Given the description of an element on the screen output the (x, y) to click on. 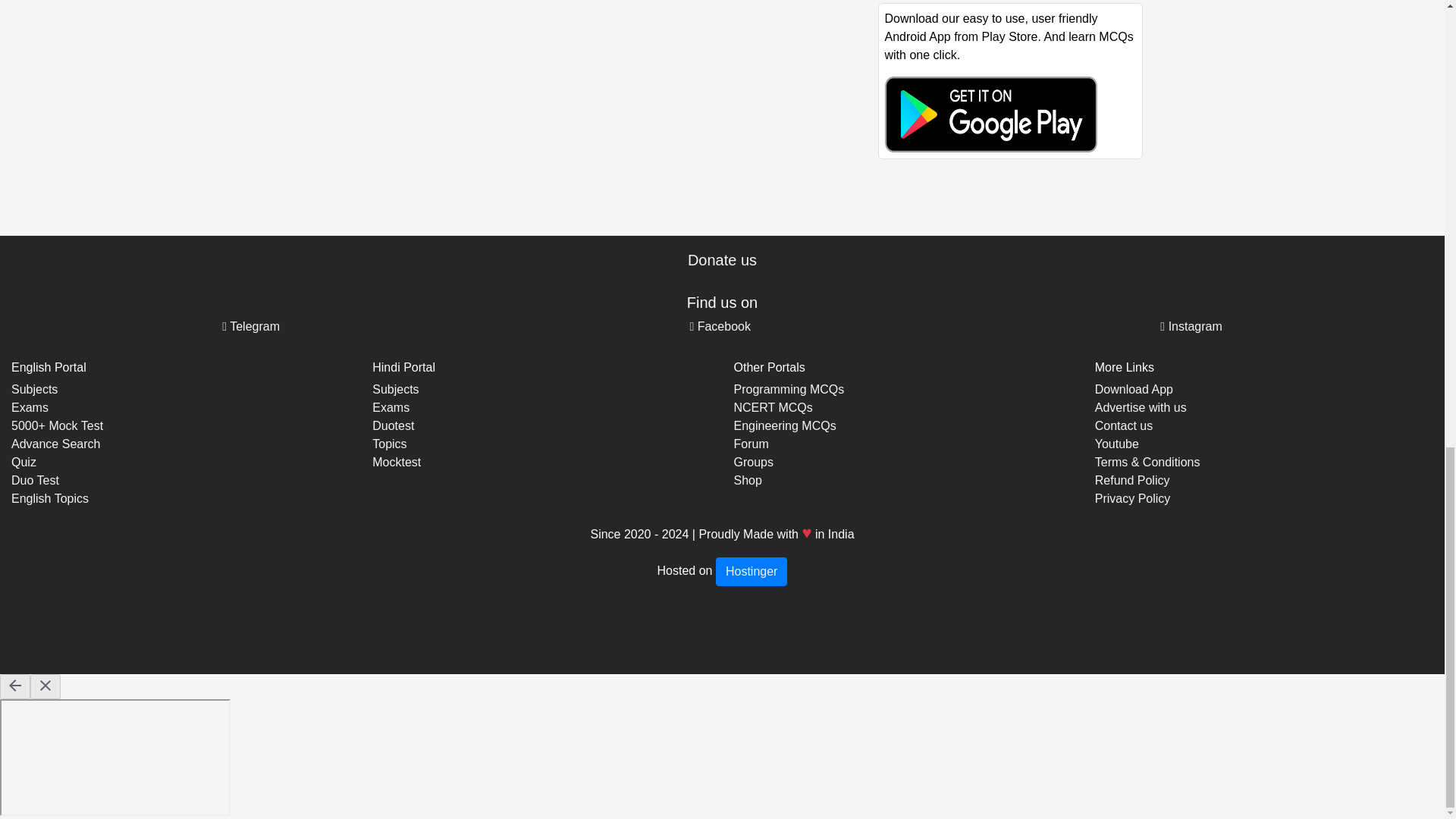
Facebook (719, 326)
Donate us (722, 259)
Telegram (250, 326)
Subjects (34, 389)
Instagram (1190, 326)
Watch our videos on youtube (1116, 443)
